Given the description of an element on the screen output the (x, y) to click on. 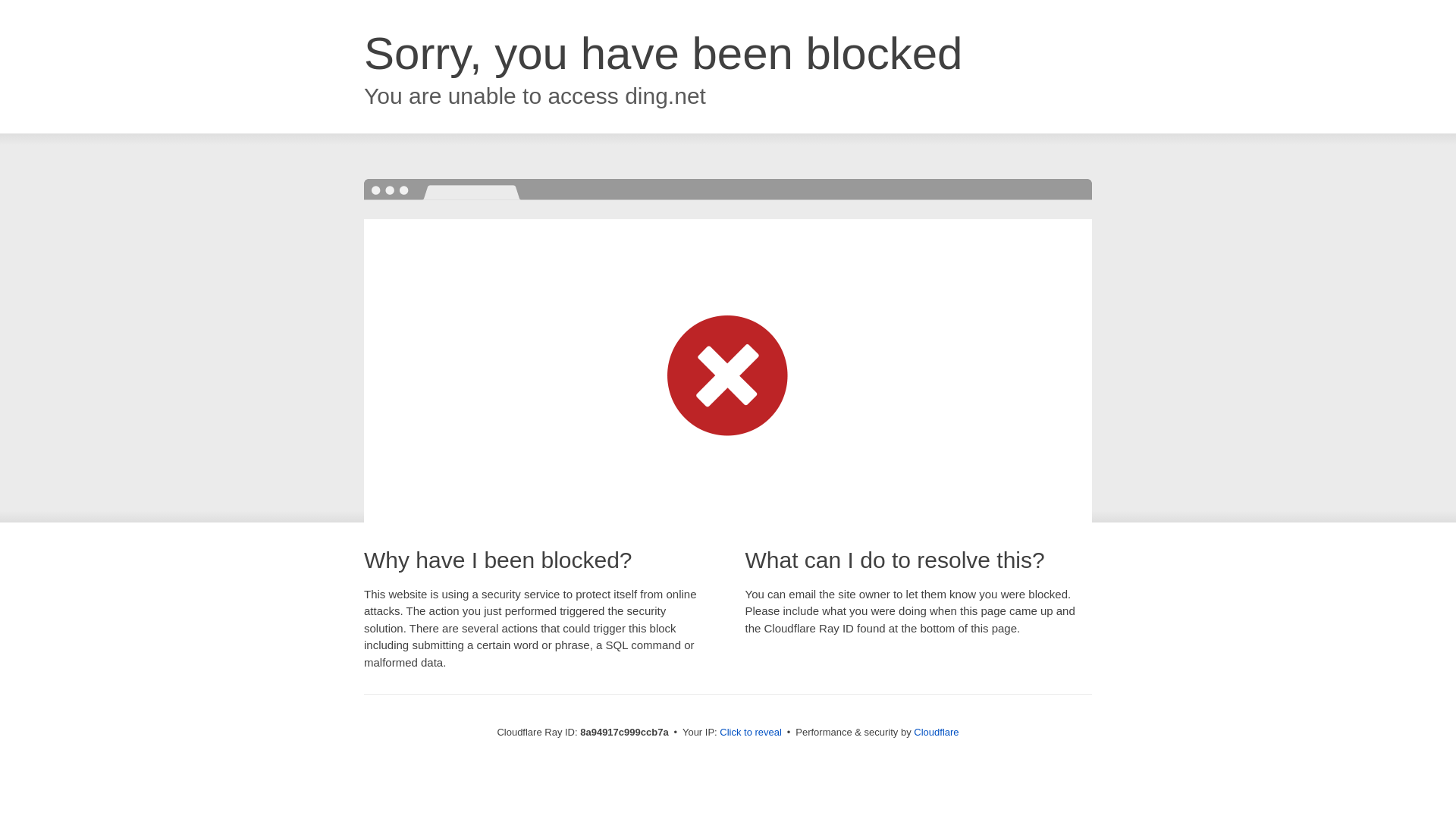
Cloudflare (936, 731)
Click to reveal (750, 732)
